Given the description of an element on the screen output the (x, y) to click on. 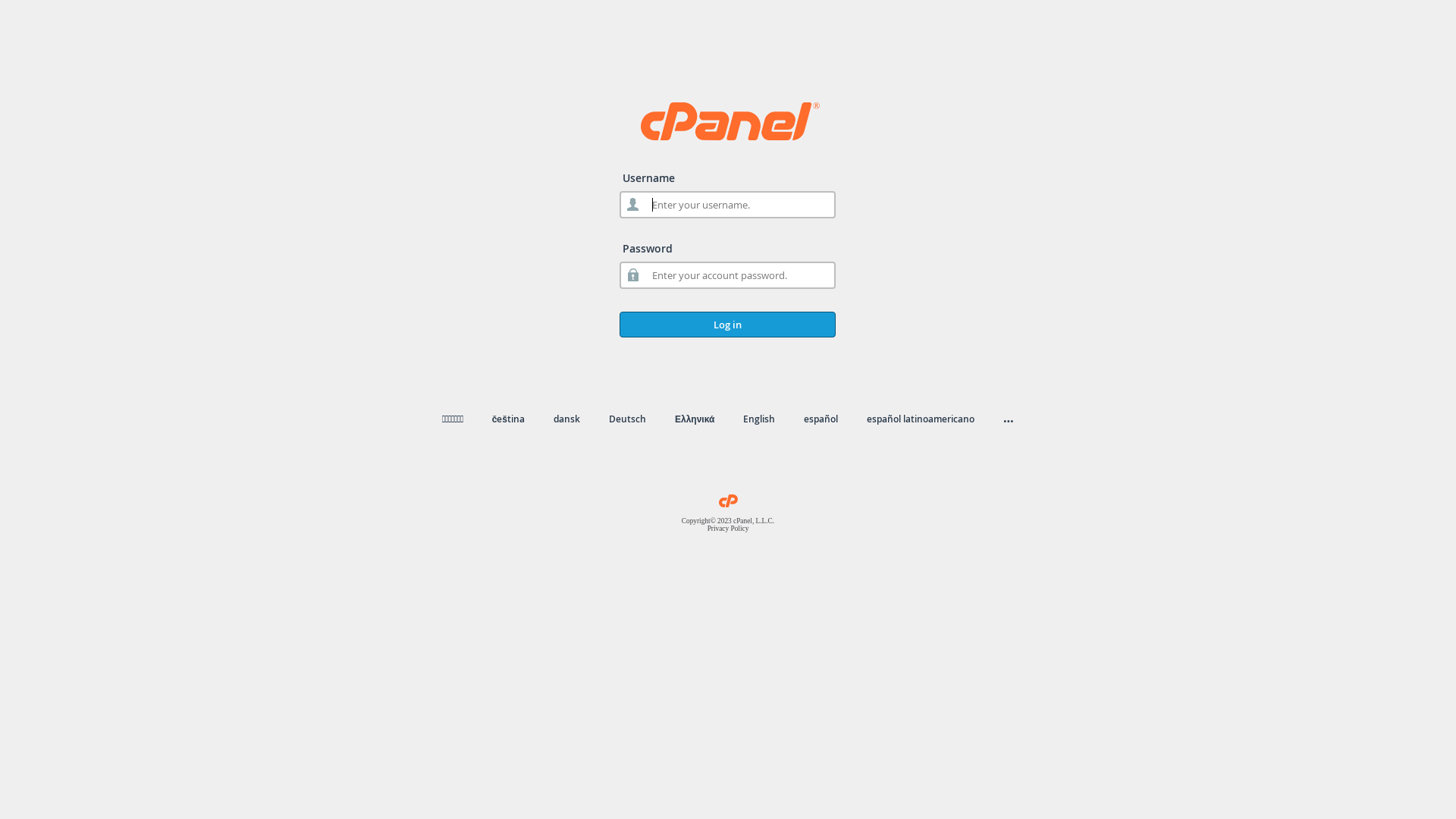
Log in Element type: text (727, 324)
Privacy Policy Element type: text (728, 528)
Deutsch Element type: text (627, 418)
dansk Element type: text (566, 418)
English Element type: text (759, 418)
